Given the description of an element on the screen output the (x, y) to click on. 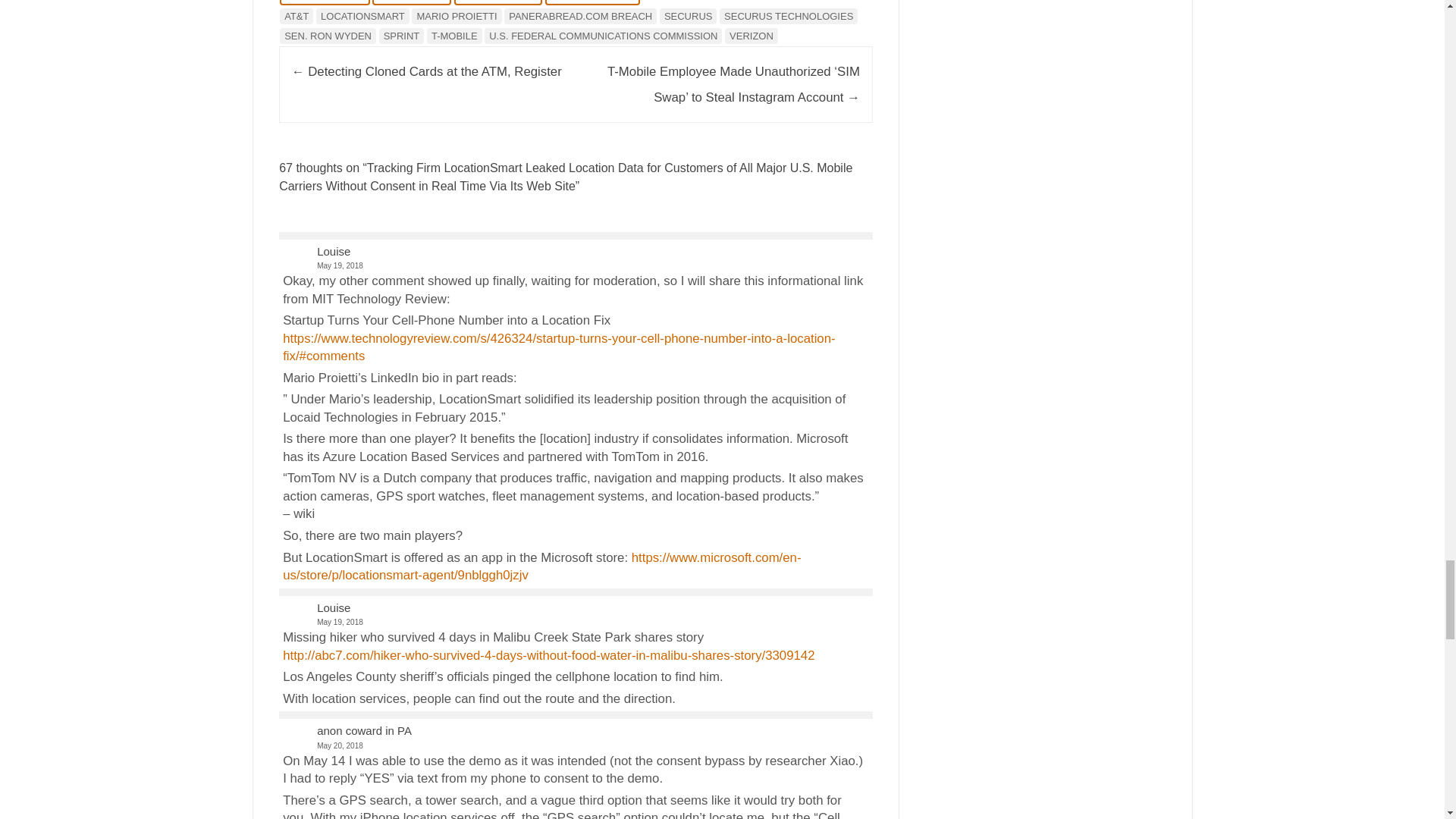
THE COMING STORM (592, 2)
DATA BREACHES (411, 2)
A LITTLE SUNSHINE (324, 2)
LOCATIONSMART (362, 16)
LATEST WARNINGS (497, 2)
MARIO PROIETTI (456, 16)
